Given the description of an element on the screen output the (x, y) to click on. 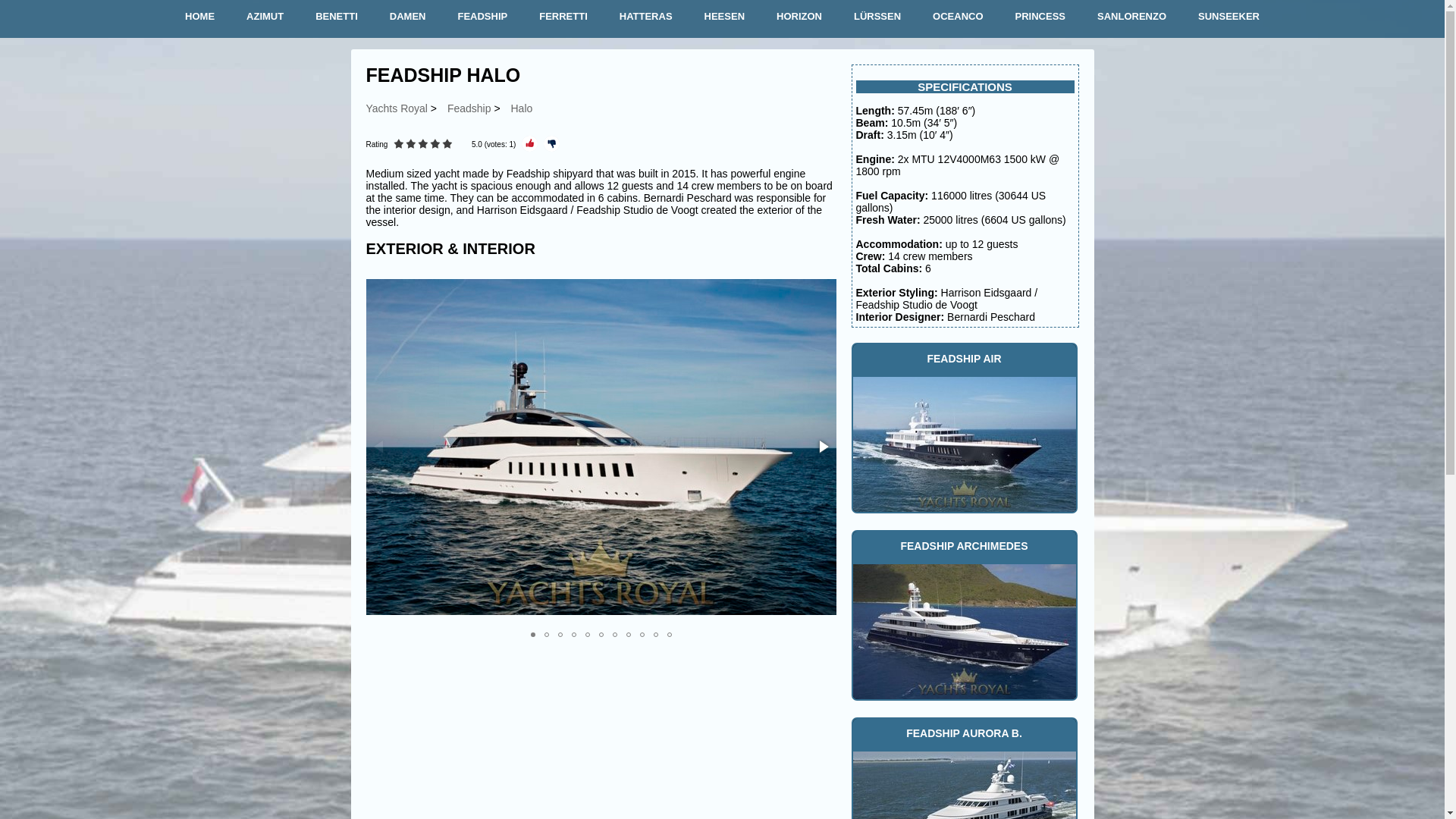
PRINCESS (1040, 16)
FEADSHIP (482, 16)
HATTERAS (645, 16)
DAMEN (407, 16)
HEESEN (725, 16)
Yachts Royal (395, 108)
SUNSEEKER (1228, 16)
Feadship Aurora B. (963, 783)
SANLORENZO (1130, 16)
FERRETTI (563, 16)
Feadship Air (963, 442)
Feadship Archimedes (963, 630)
BENETTI (335, 16)
AZIMUT (264, 16)
HOME (200, 16)
